Given the description of an element on the screen output the (x, y) to click on. 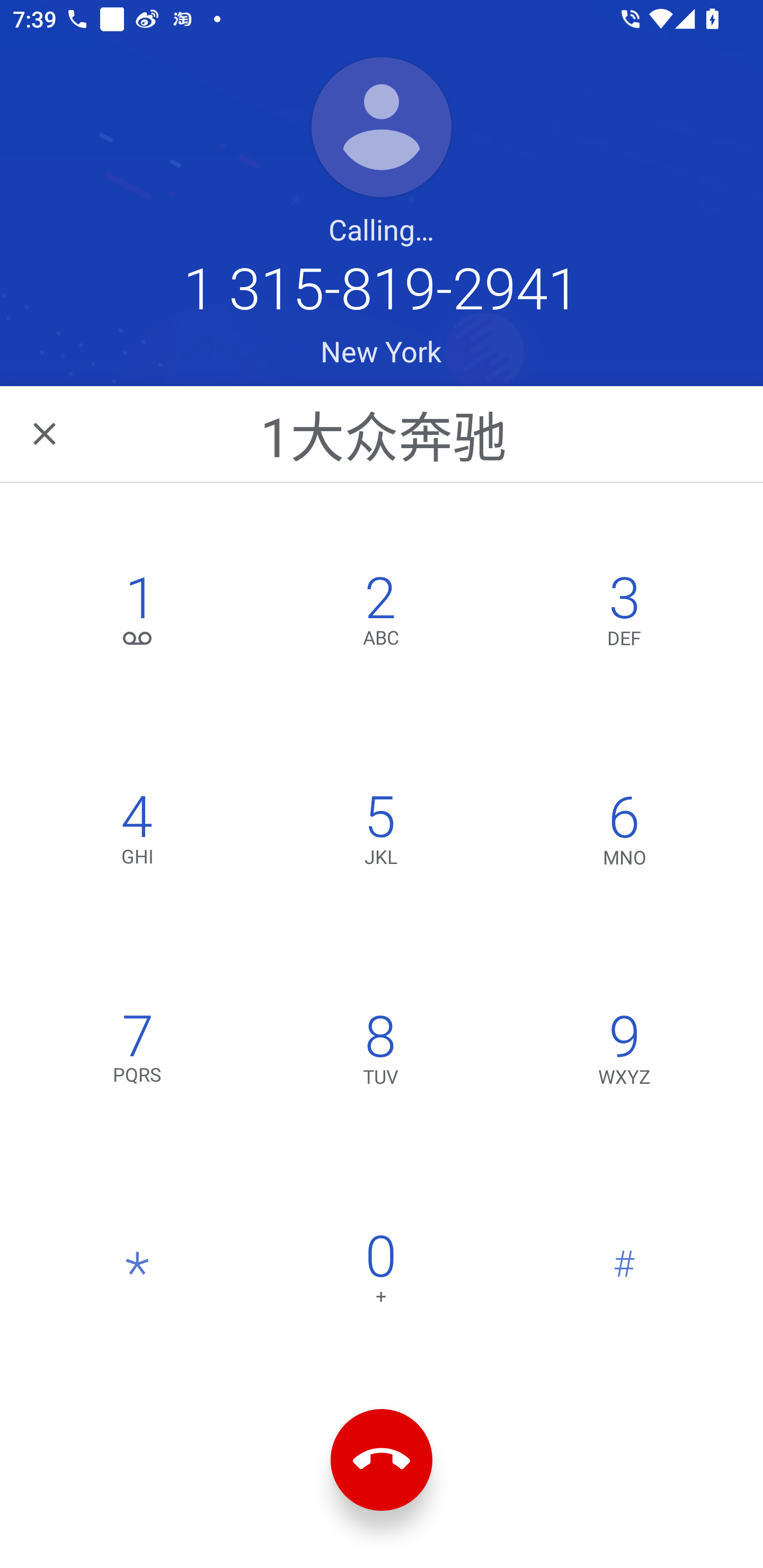
1大众奔驰 (382, 433)
Navigate back (45, 433)
1, 1 (137, 614)
2,ABC 2 ABC (380, 614)
3,DEF 3 DEF (624, 614)
4,GHI 4 GHI (137, 833)
5,JKL 5 JKL (380, 833)
6,MNO 6 MNO (624, 833)
7,PQRS 7 PQRS (137, 1053)
8,TUV 8 TUV (380, 1053)
9,WXYZ 9 WXYZ (624, 1053)
* (137, 1272)
0 0 + (380, 1272)
# (624, 1272)
End call (381, 1460)
